Given the description of an element on the screen output the (x, y) to click on. 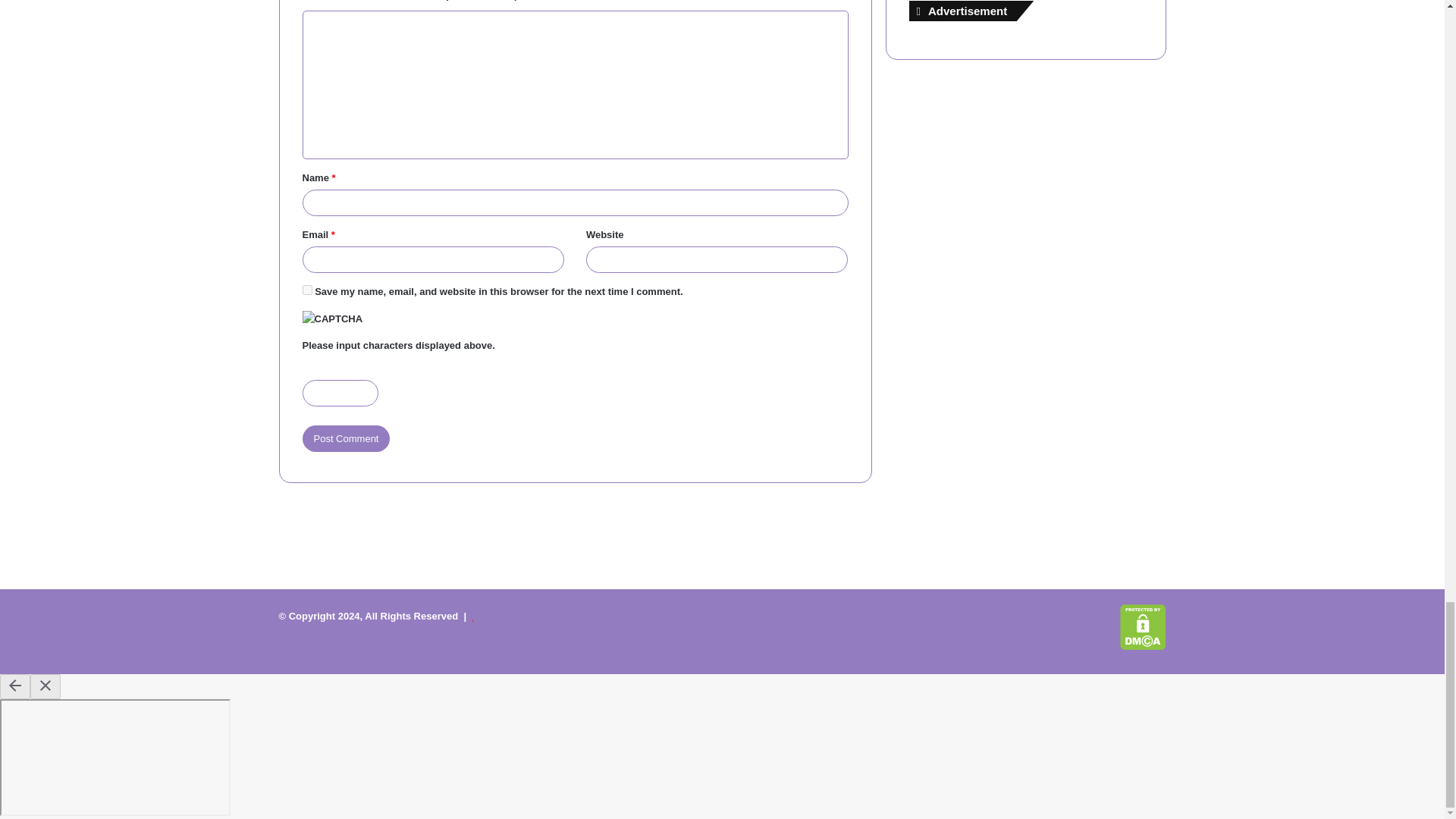
Post Comment (345, 438)
yes (306, 289)
